Given the description of an element on the screen output the (x, y) to click on. 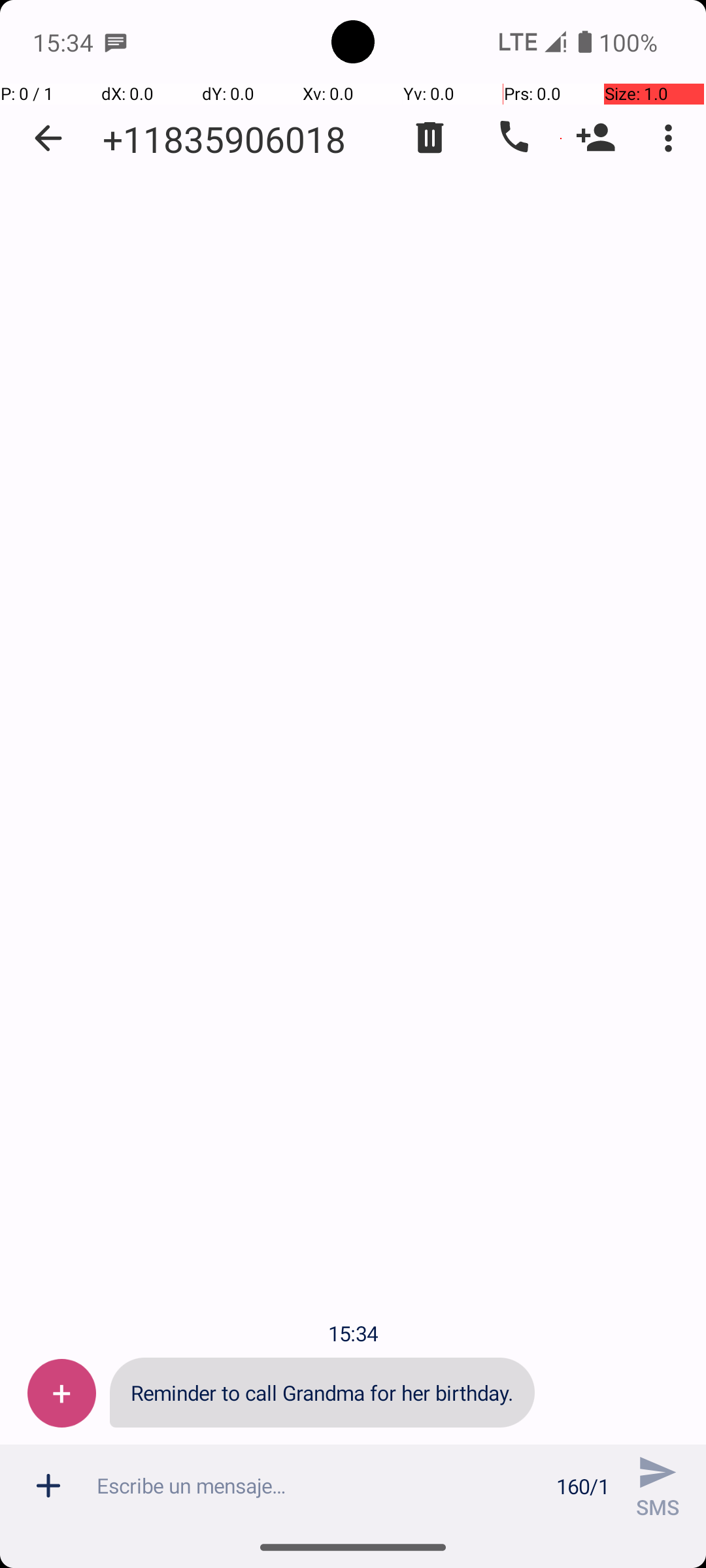
Atrás Element type: android.widget.ImageButton (48, 138)
+11835906018 Element type: android.widget.TextView (223, 138)
Eliminar Element type: android.widget.Button (429, 137)
Marcar número Element type: android.widget.Button (512, 137)
Añadir persona Element type: android.widget.Button (595, 137)
Archivo adjunto Element type: android.widget.ImageView (48, 1485)
Escribe un mensaje… Element type: android.widget.EditText (318, 1485)
160/1 Element type: android.widget.TextView (582, 1485)
Reminder to call Grandma for her birthday. Element type: android.widget.TextView (321, 1392)
